Given the description of an element on the screen output the (x, y) to click on. 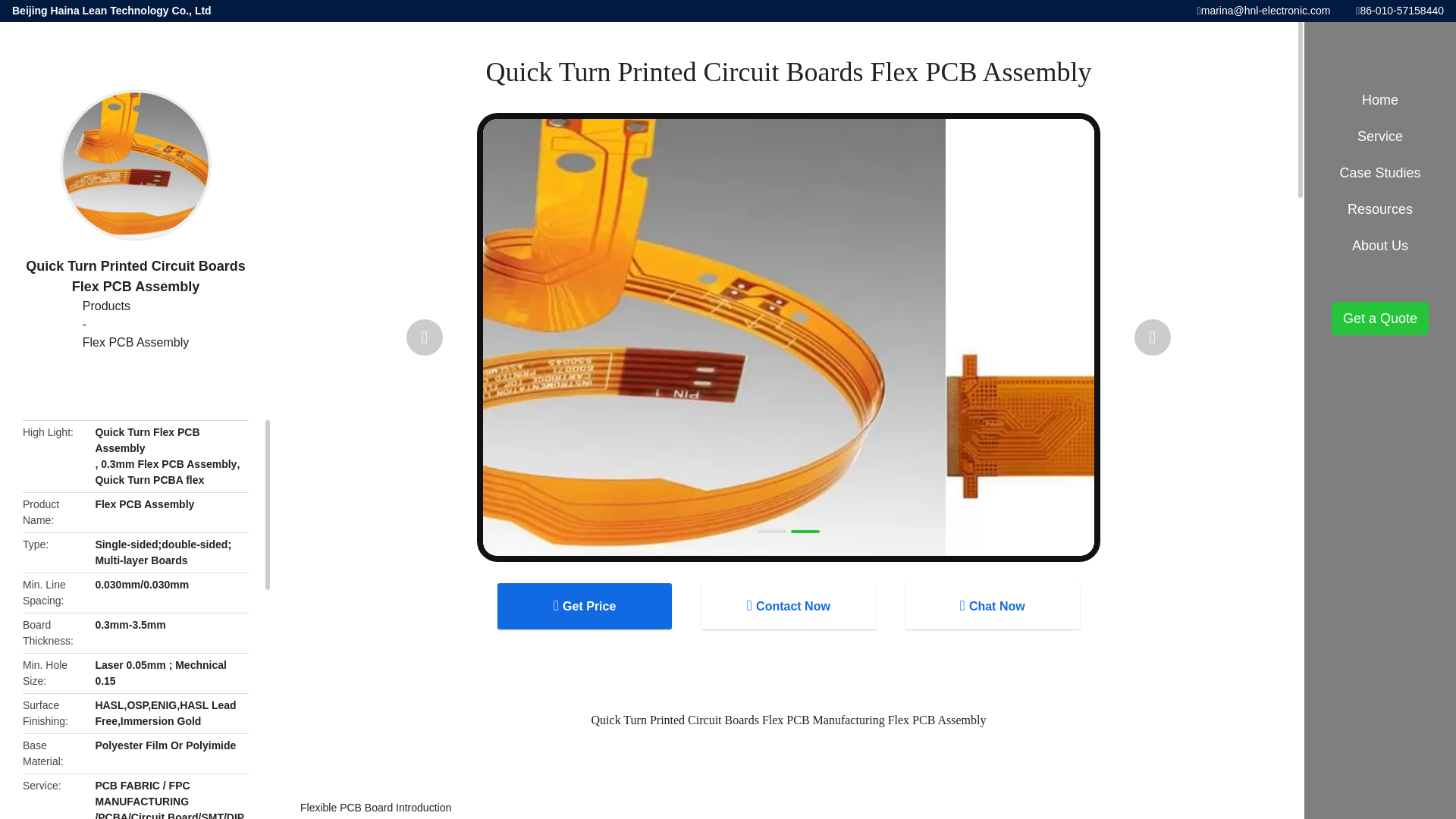
Home (1379, 99)
Get Price (584, 606)
Service (1379, 135)
China Flex PCB Assembly Manufacturers (135, 342)
Flex PCB Assembly (135, 342)
Contact Now (788, 606)
Products (135, 306)
Case Studies (135, 306)
Chat Now (992, 606)
